Given the description of an element on the screen output the (x, y) to click on. 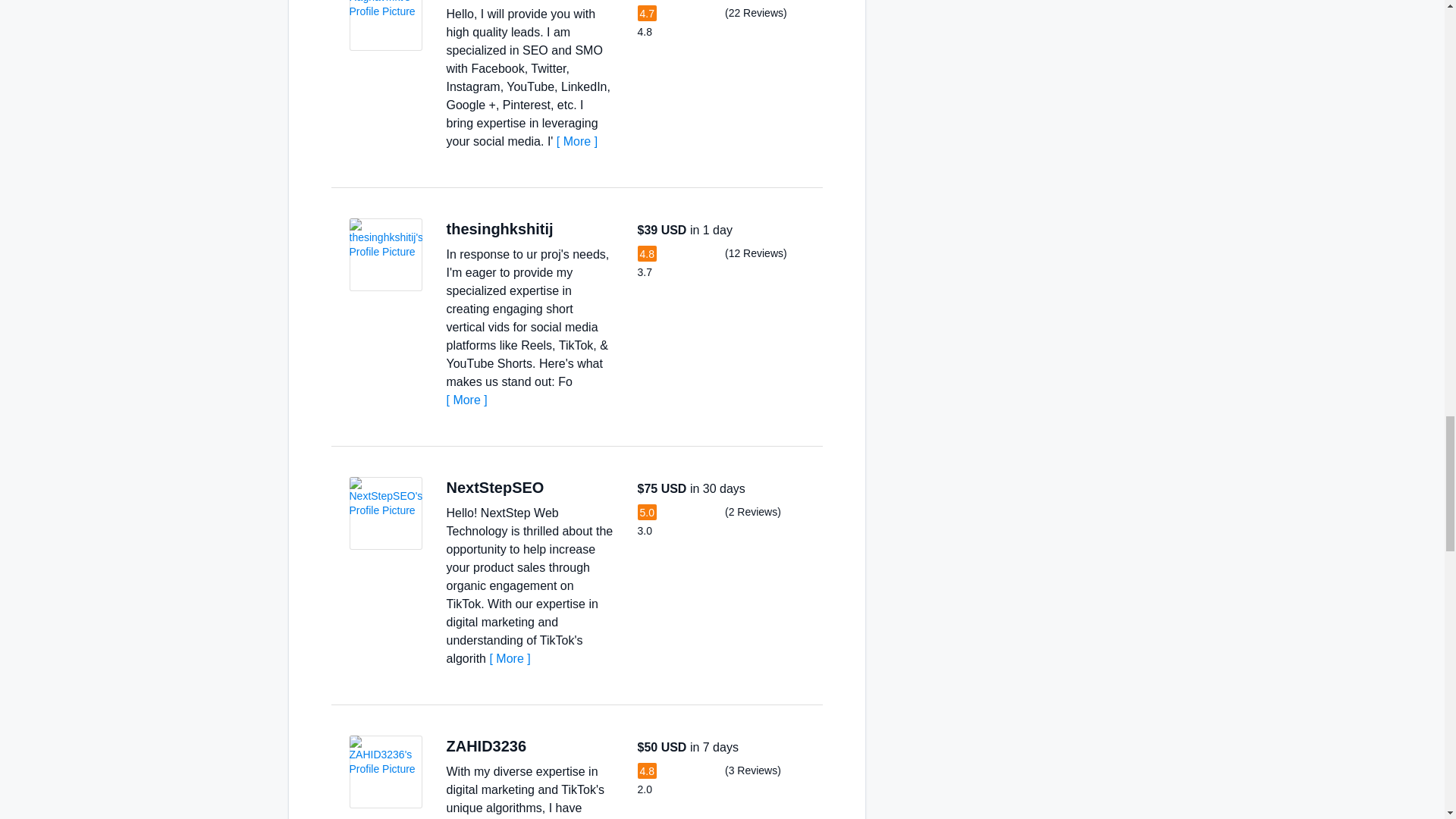
View thesinghkshitij's Profile (385, 254)
NextStepSEO (494, 487)
India (559, 488)
Bangladesh (541, 746)
ZAHID3236 (485, 745)
More (576, 141)
View NextStepSEO's Profile (385, 512)
View RaghavMkt's Profile (385, 25)
View ZAHID3236's Profile (385, 771)
thesinghkshitij (499, 228)
